Given the description of an element on the screen output the (x, y) to click on. 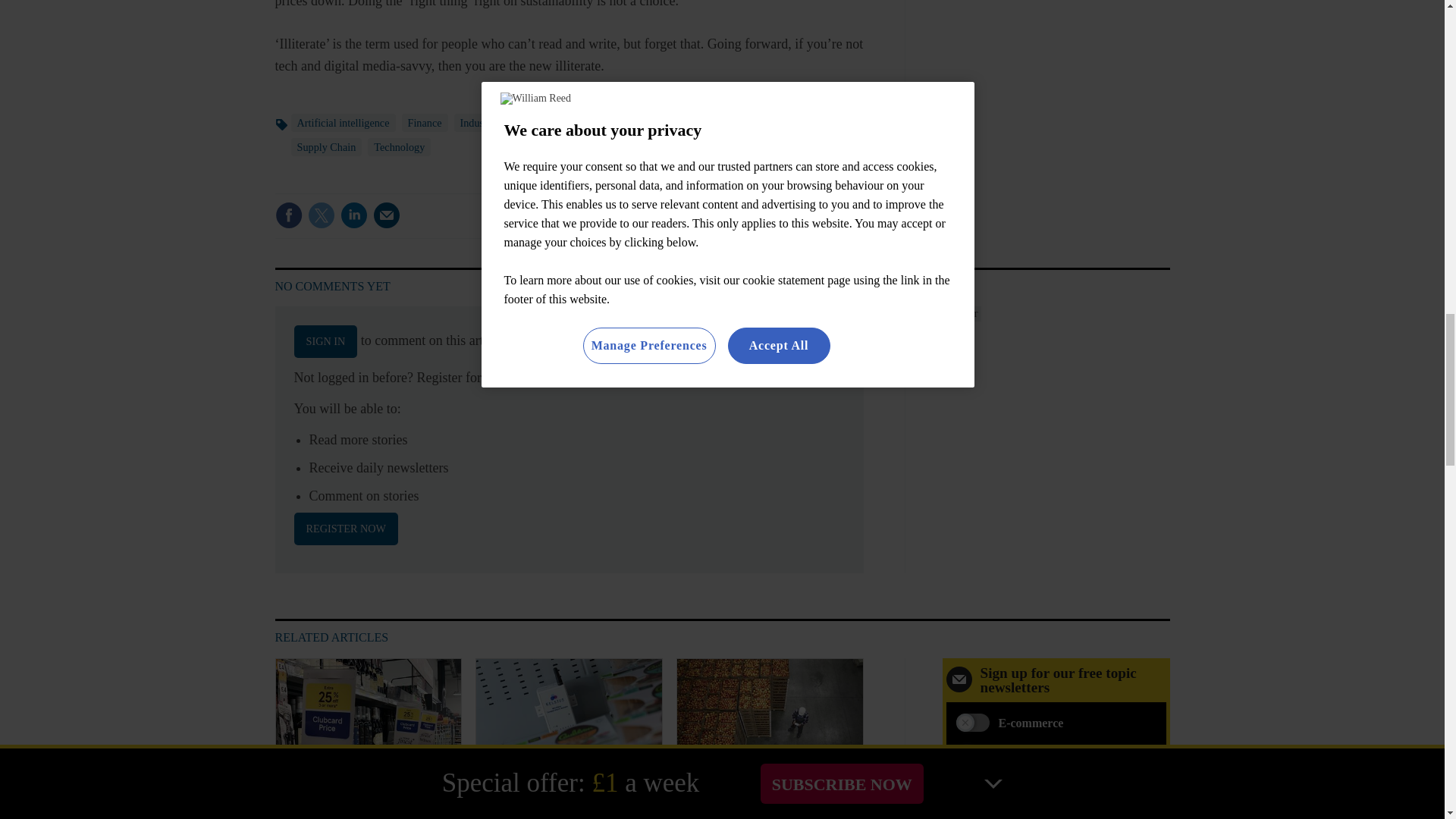
Share this on Facebook (288, 215)
Share this on Linked in (352, 215)
Email this article (386, 215)
Share this on Twitter (320, 215)
No comments (812, 224)
